Given the description of an element on the screen output the (x, y) to click on. 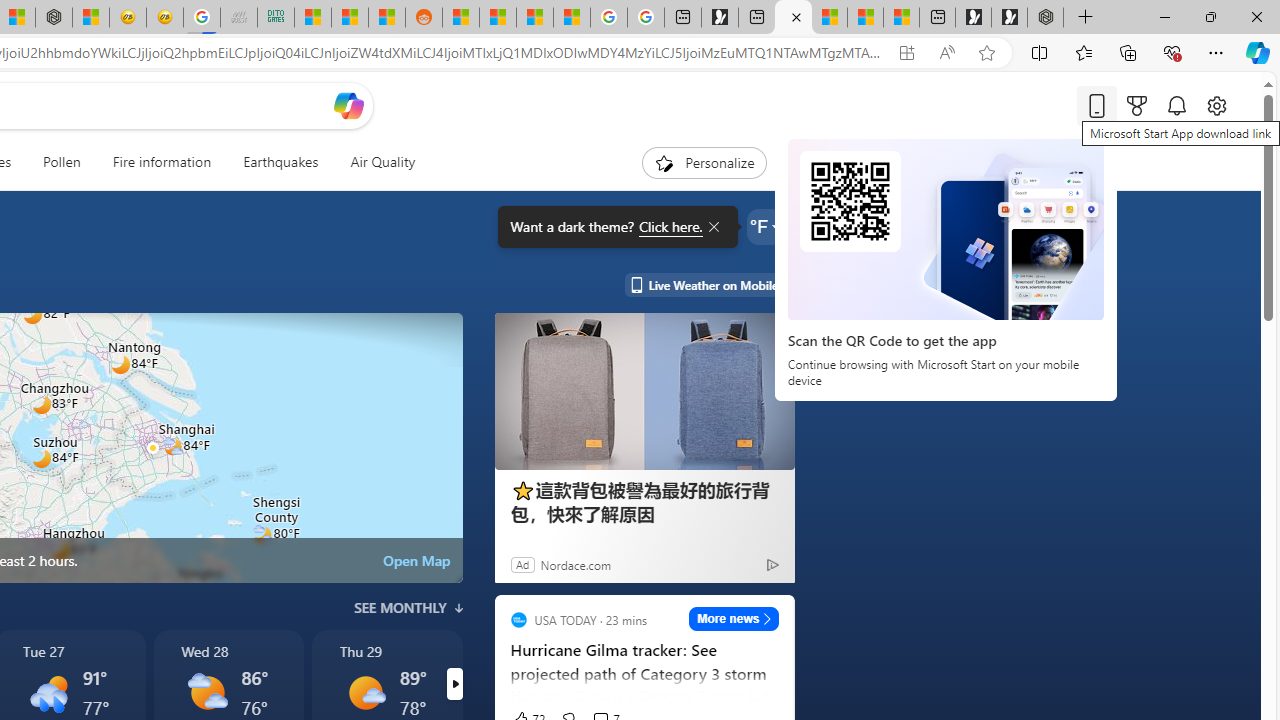
Earthquakes (280, 162)
Weather settings Want a dark theme?Click here. (764, 226)
Weather settings (764, 226)
More news (733, 618)
See Monthly (408, 607)
DITOGAMES AG Imprint (276, 17)
R******* | Trusted Community Engagement and Contributions (460, 17)
MSN (386, 17)
Nordace - Nordace Siena Is Not An Ordinary Backpack (1045, 17)
